Given the description of an element on the screen output the (x, y) to click on. 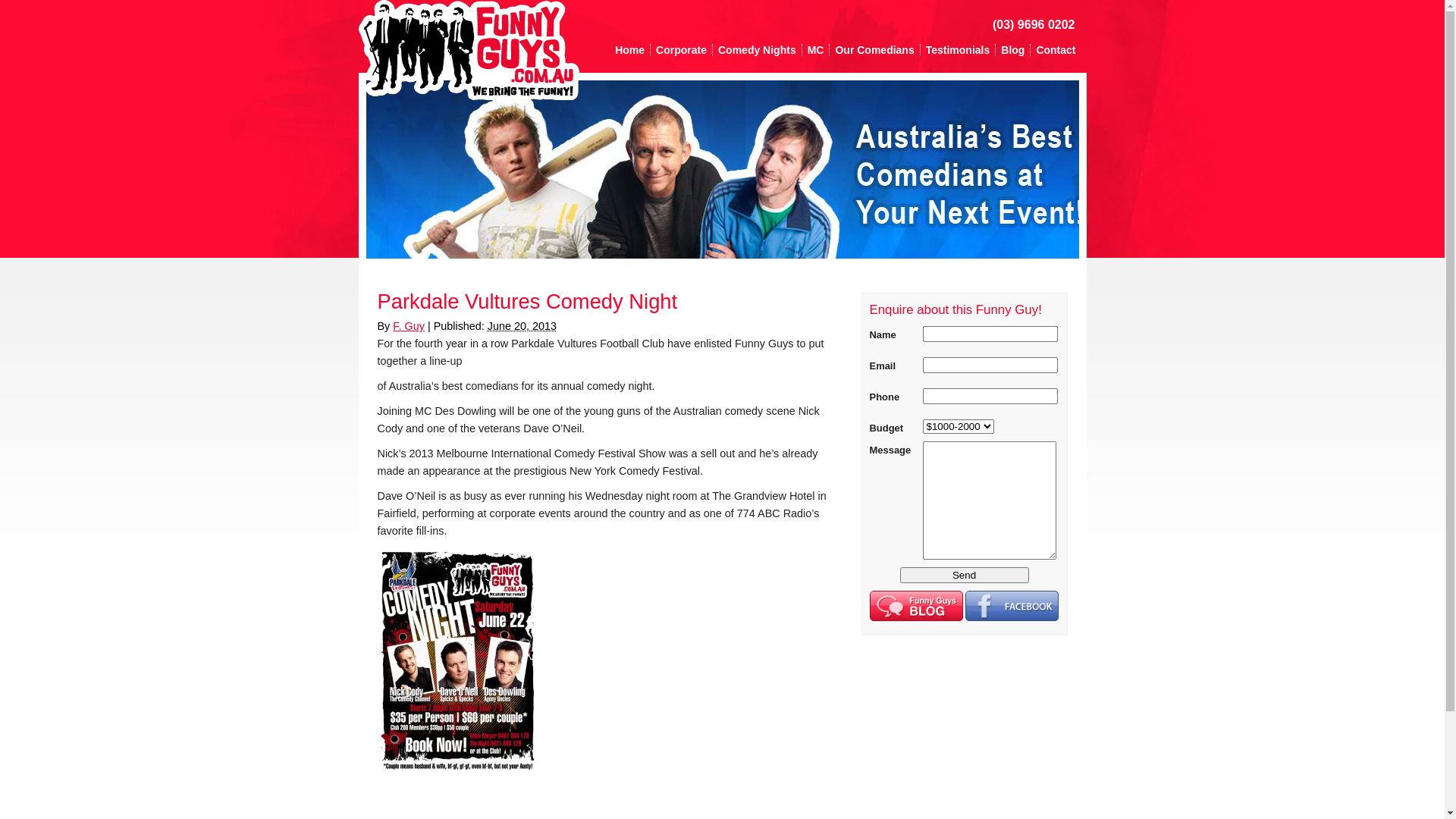
Testimonials Element type: text (958, 49)
F. Guy Element type: text (408, 326)
MC Element type: text (816, 49)
Corporate Element type: text (681, 49)
Contact Element type: text (1055, 49)
(03) 9696 0202 Element type: text (1033, 24)
Blog Element type: text (1012, 49)
Our Comedians Element type: text (874, 49)
Funny Guys Element type: text (467, 50)
Home Element type: text (629, 49)
Send Element type: text (963, 575)
Comedy Nights Element type: text (757, 49)
